Given the description of an element on the screen output the (x, y) to click on. 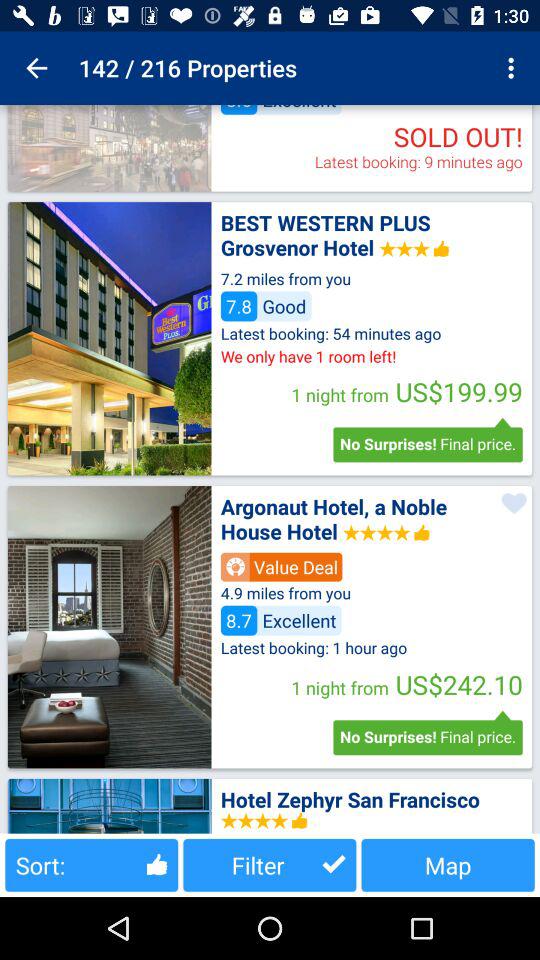
image of hotel (109, 805)
